Given the description of an element on the screen output the (x, y) to click on. 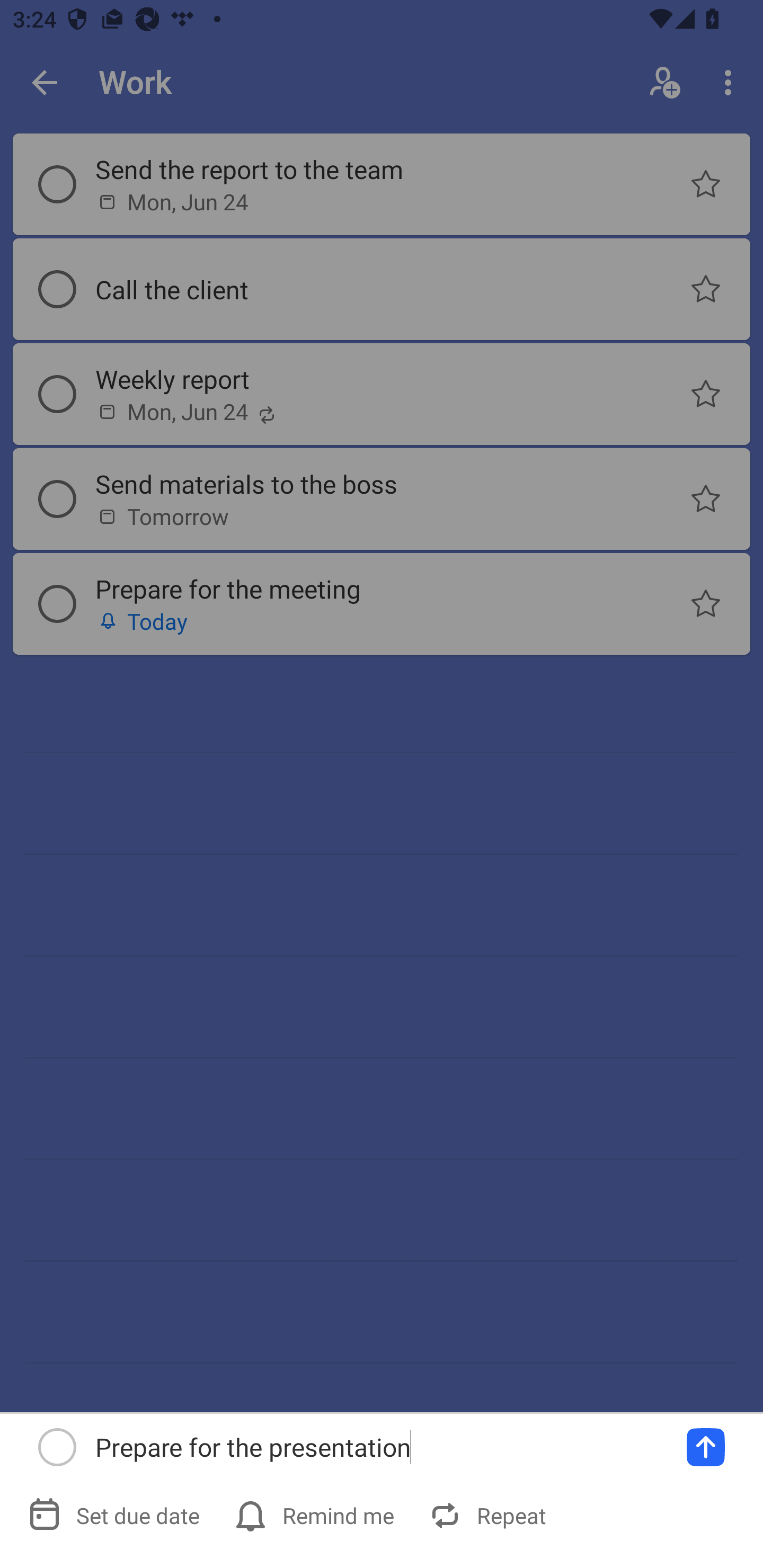
Set due date (115, 1515)
